Given the description of an element on the screen output the (x, y) to click on. 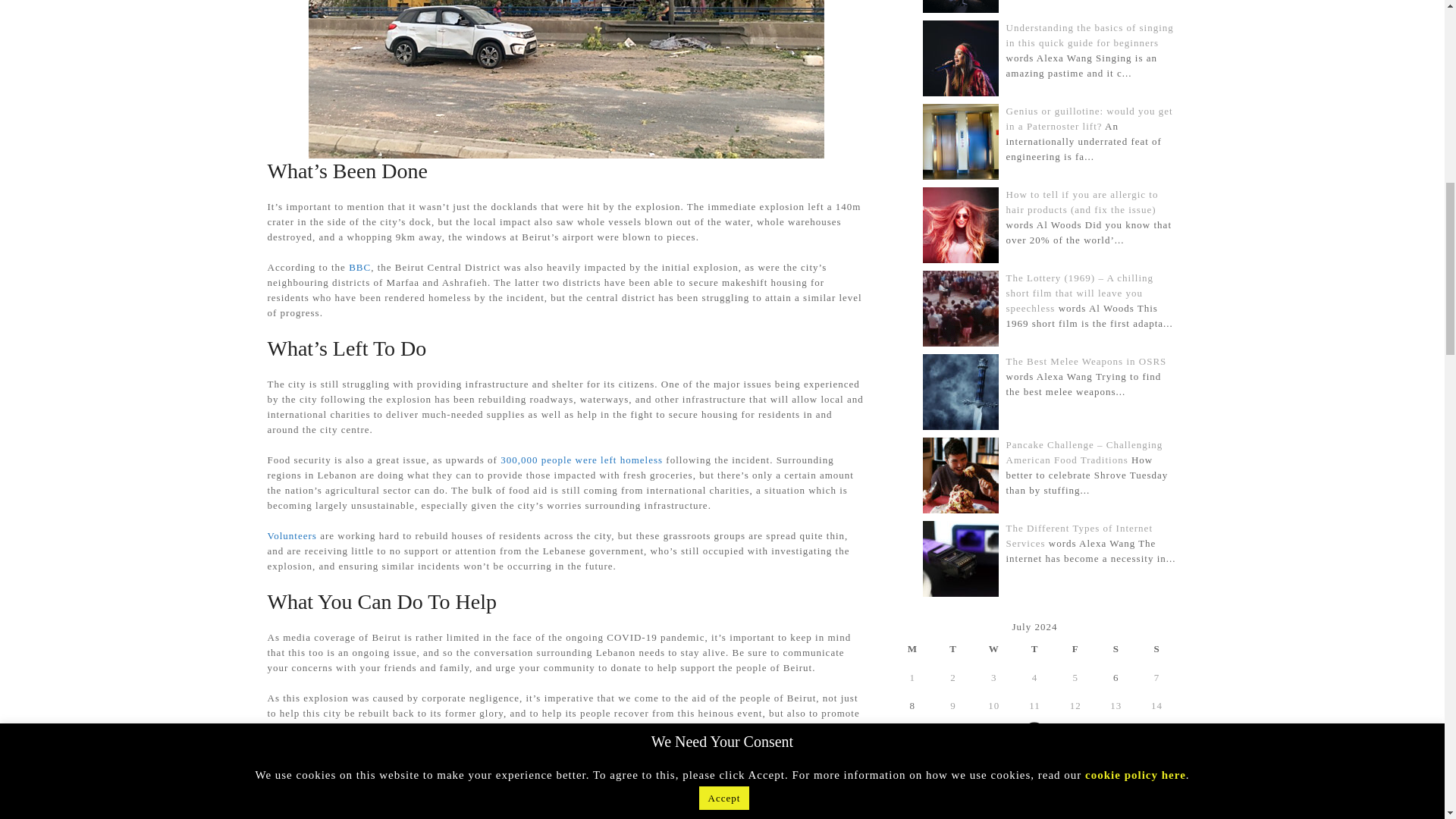
Wednesday (994, 648)
Friday (1075, 648)
Saturday (1116, 648)
Sunday (1157, 648)
Tuesday (953, 648)
Monday (912, 648)
Thursday (1034, 648)
